Given the description of an element on the screen output the (x, y) to click on. 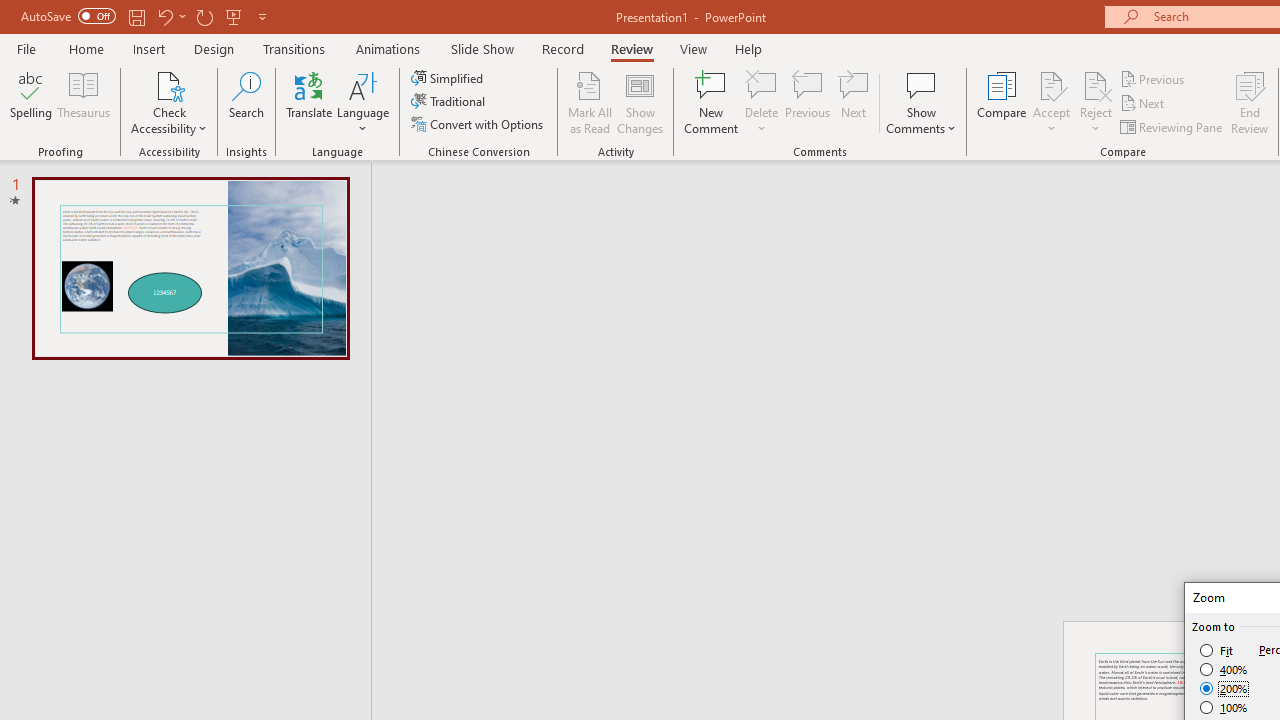
100% (1224, 707)
Fit (1217, 650)
